Given the description of an element on the screen output the (x, y) to click on. 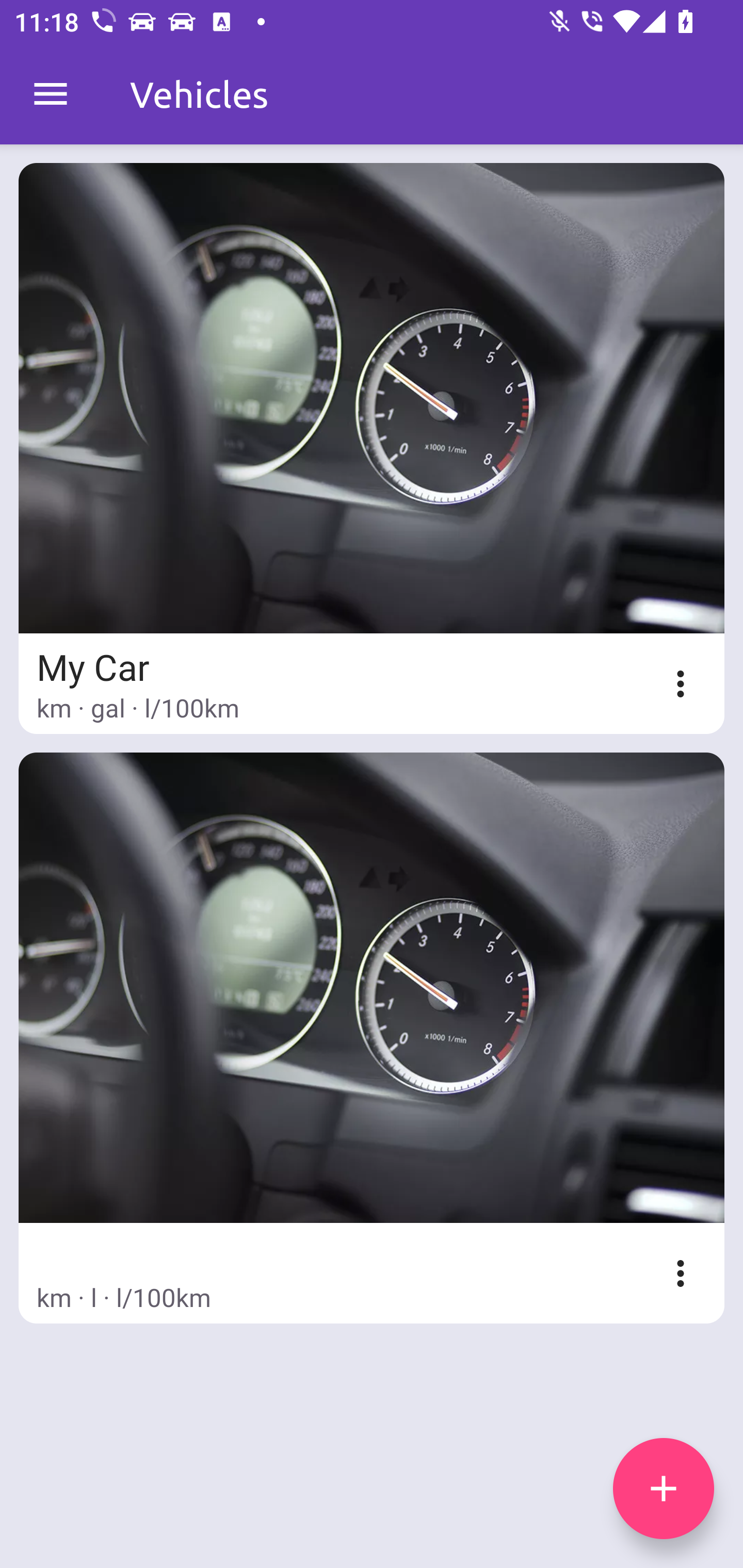
MenuDrawer (50, 93)
My Car km · gal · l/100km (371, 448)
km · l · l/100km (371, 1037)
add icon (663, 1488)
